Given the description of an element on the screen output the (x, y) to click on. 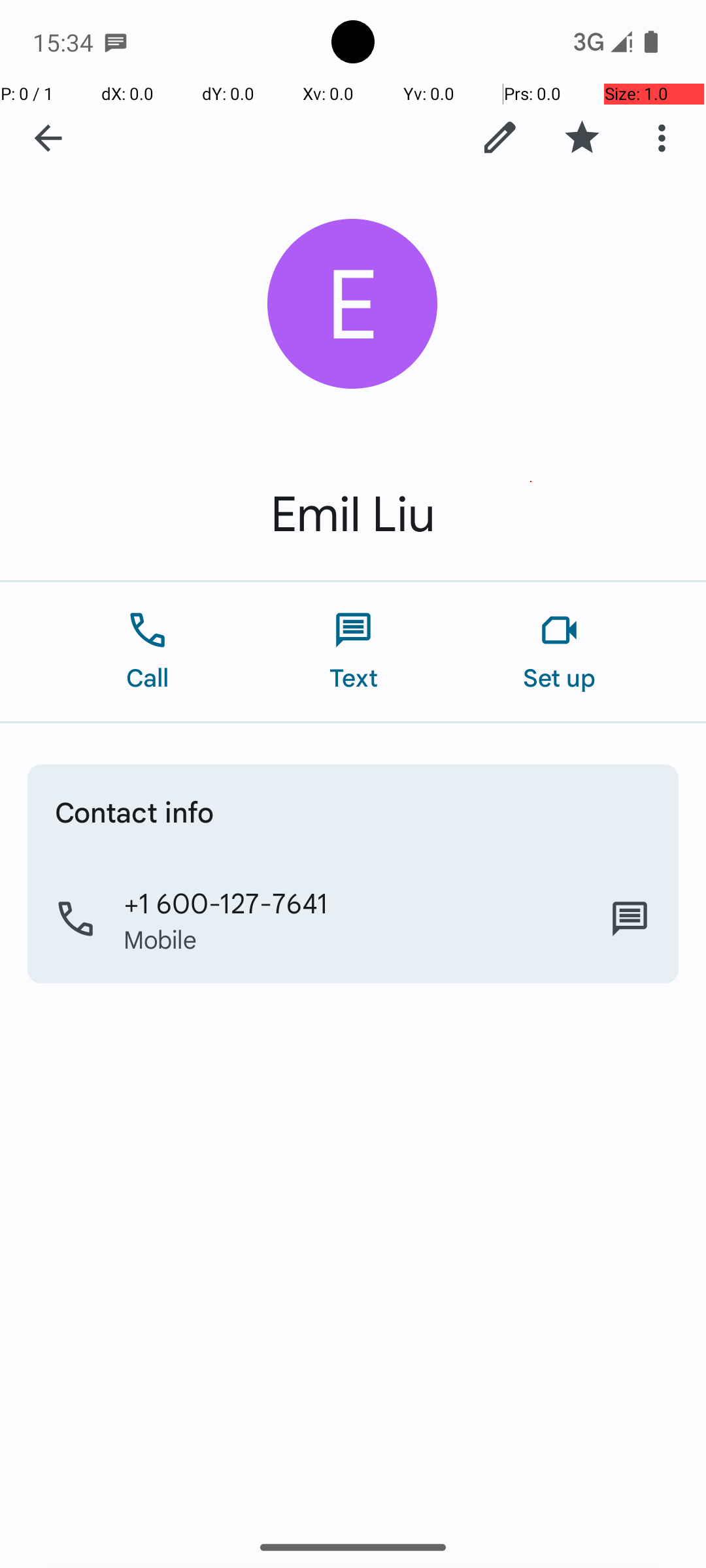
Emil Liu Element type: android.widget.TextView (352, 514)
Call Mobile +1 600-127-7641 Element type: android.widget.RelativeLayout (352, 919)
+1 600-127-7641 Element type: android.widget.TextView (225, 901)
Text Mobile +1 600-127-7641 Element type: android.widget.Button (629, 919)
SMS Messenger notification: Martin Chen Element type: android.widget.ImageView (115, 41)
